Given the description of an element on the screen output the (x, y) to click on. 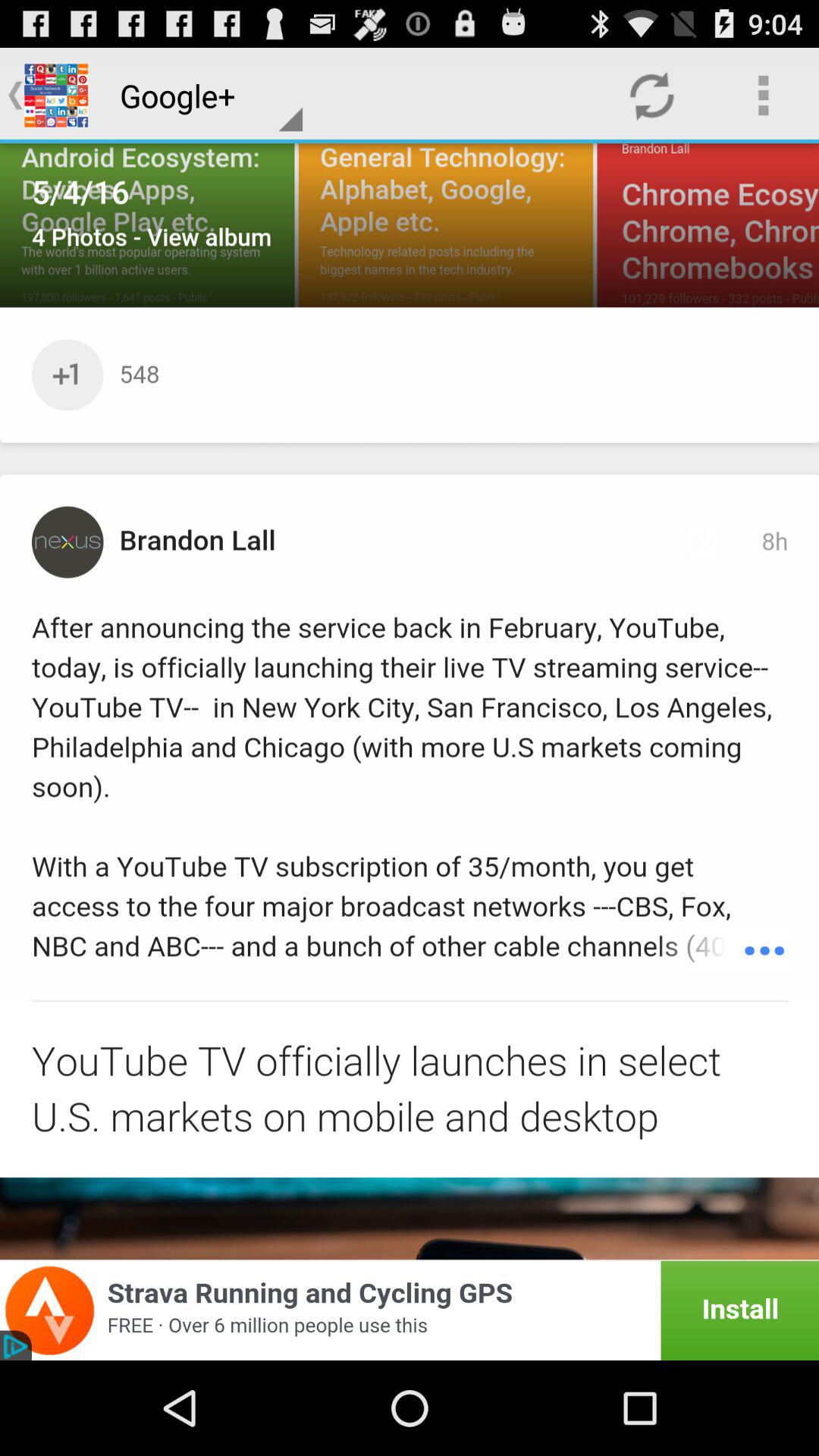
install the strava running and cycling gps app (409, 1310)
